Given the description of an element on the screen output the (x, y) to click on. 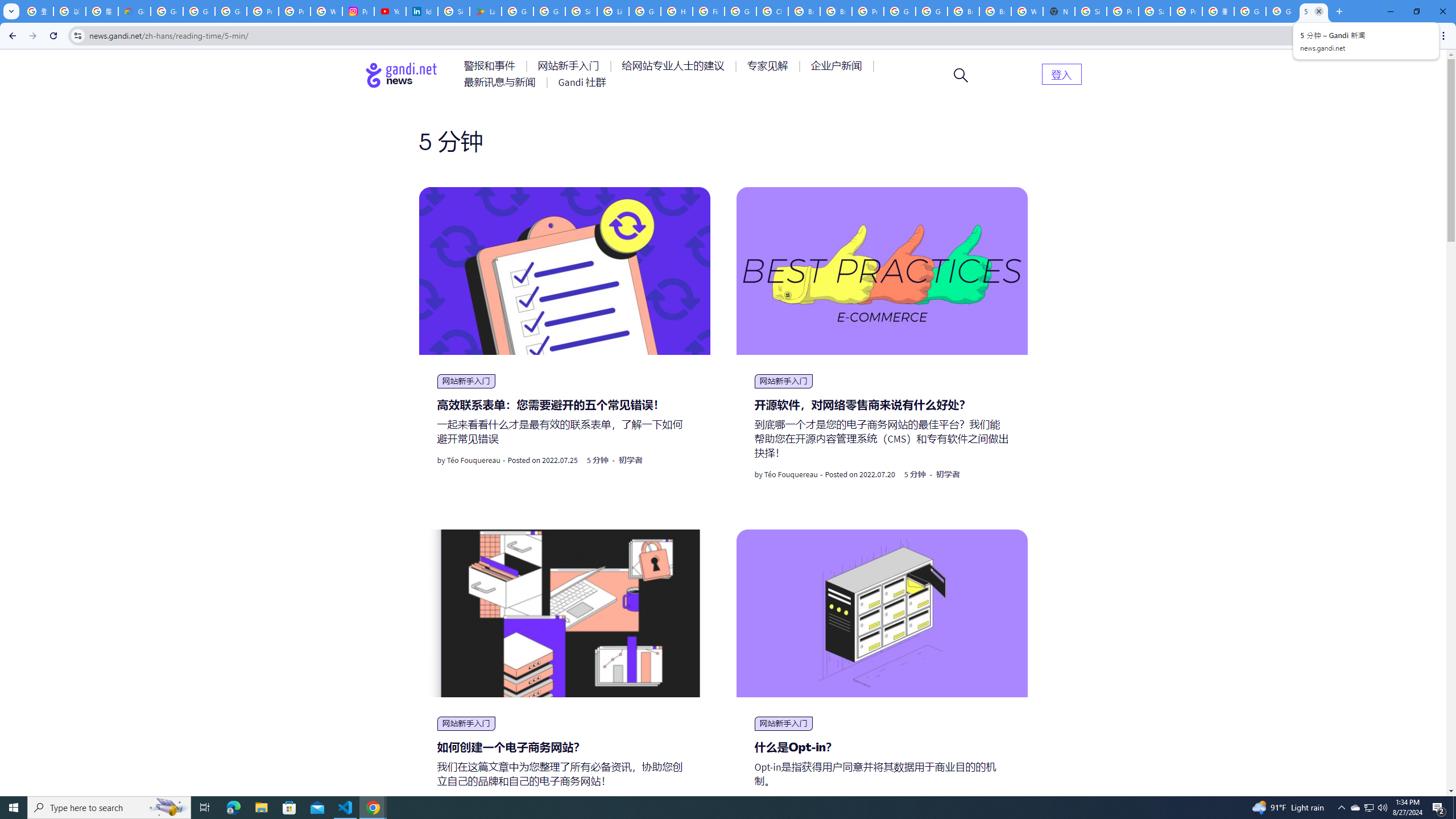
New Tab (1059, 11)
AutomationID: menu-item-82399 (1061, 73)
Privacy Help Center - Policies Help (262, 11)
AutomationID: menu-item-77761 (492, 65)
